Given the description of an element on the screen output the (x, y) to click on. 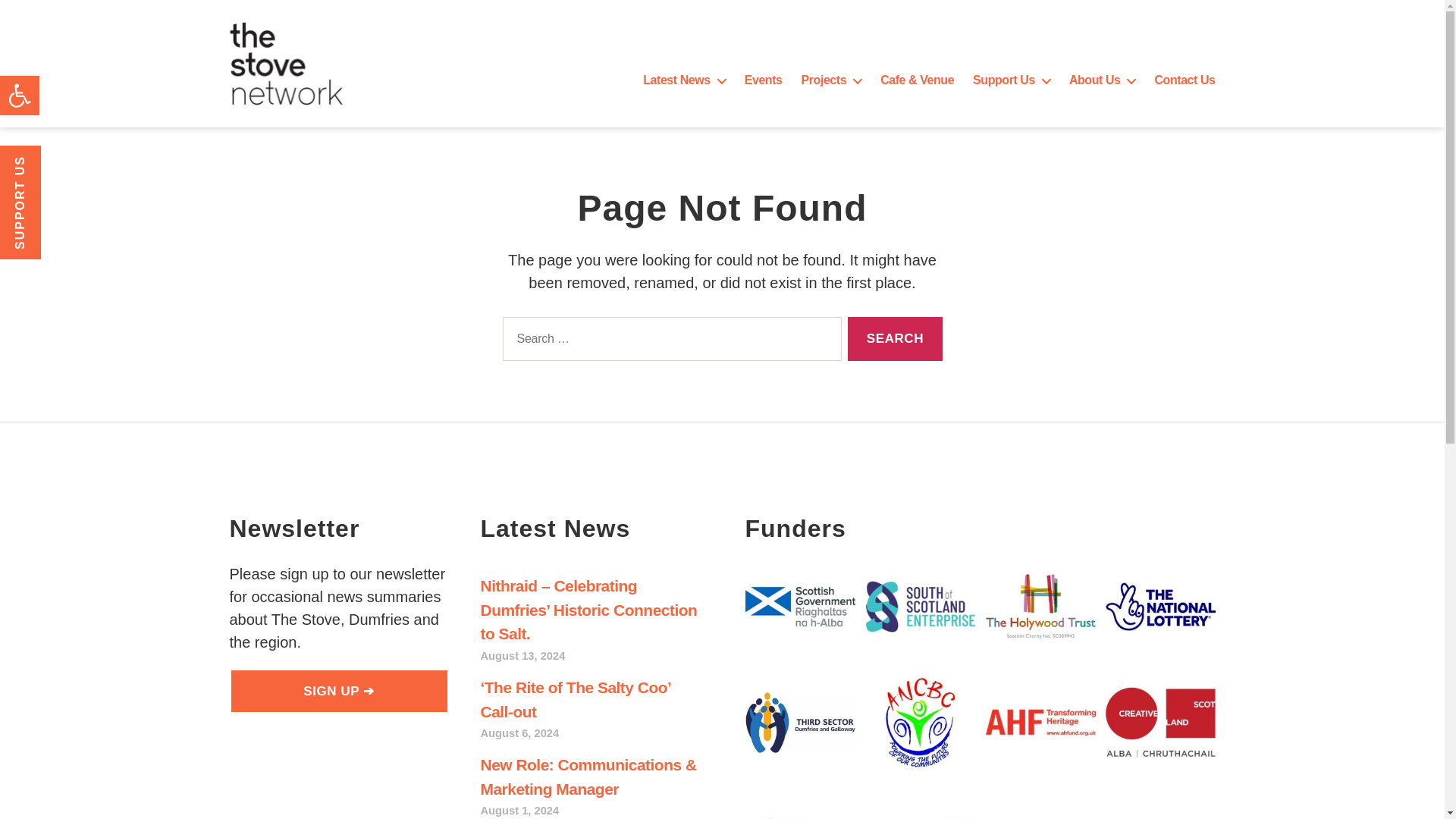
Events (763, 80)
About Us (1101, 80)
Search (894, 338)
Latest News (684, 80)
SUPPORT US (56, 165)
Contact Us (1184, 80)
Support Us (1010, 80)
Search (894, 338)
Projects (831, 80)
Accessibility Tools (19, 95)
